Given the description of an element on the screen output the (x, y) to click on. 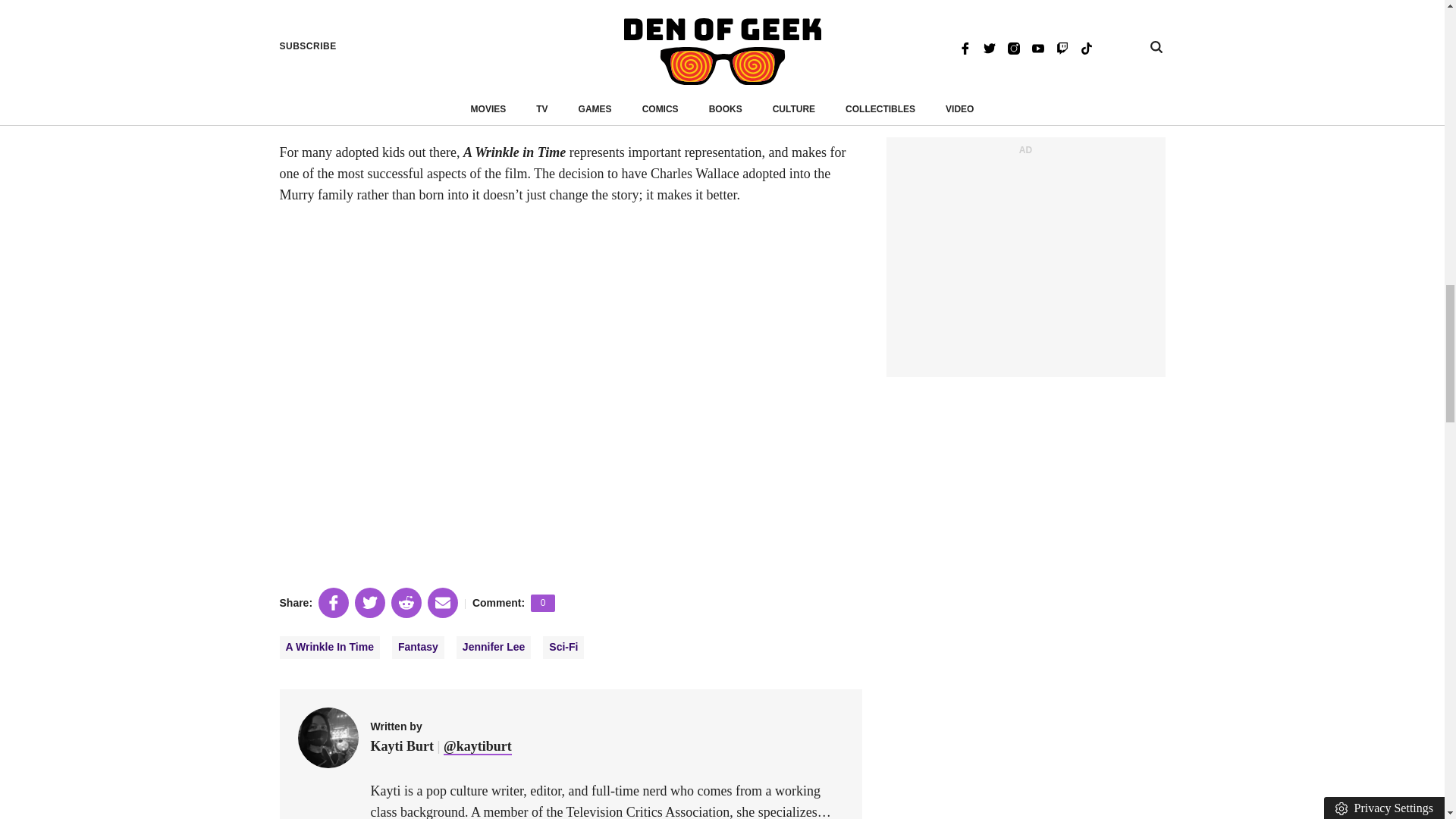
one of the best parts of the film (766, 2)
